Given the description of an element on the screen output the (x, y) to click on. 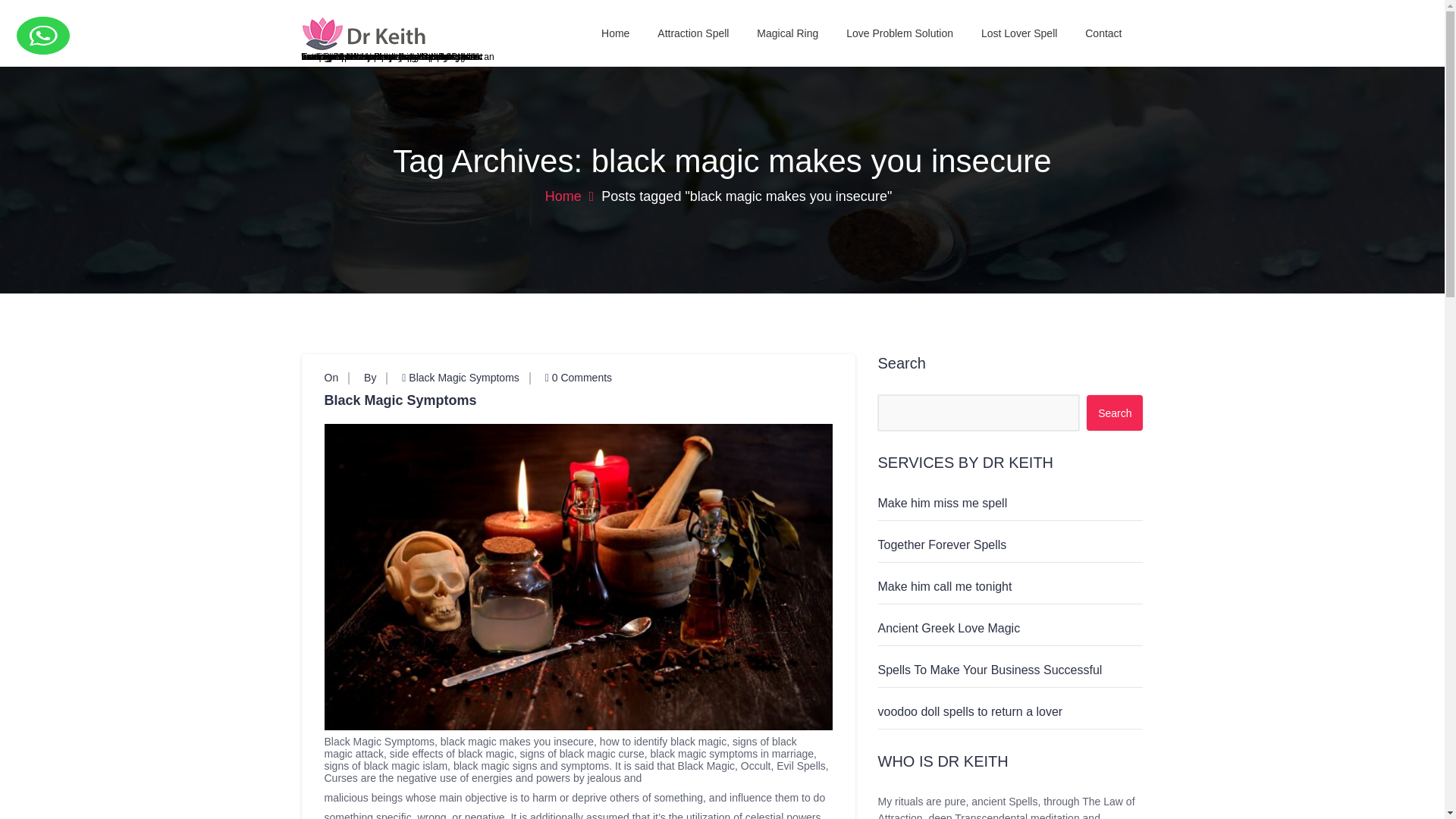
Black Magic Symptoms (463, 377)
voodoo doll spells to return a lover (969, 711)
By (369, 377)
Make him call me tonight (944, 585)
Love Problem Solution (899, 33)
Ancient Greek Love Magic (948, 627)
Black Magic Symptoms (578, 400)
Home (569, 196)
Magical Ring (786, 33)
On (331, 377)
Search (1114, 412)
Attraction Spell (692, 33)
0 Comments (577, 377)
Love Problem Solution (899, 33)
Search (1114, 412)
